Given the description of an element on the screen output the (x, y) to click on. 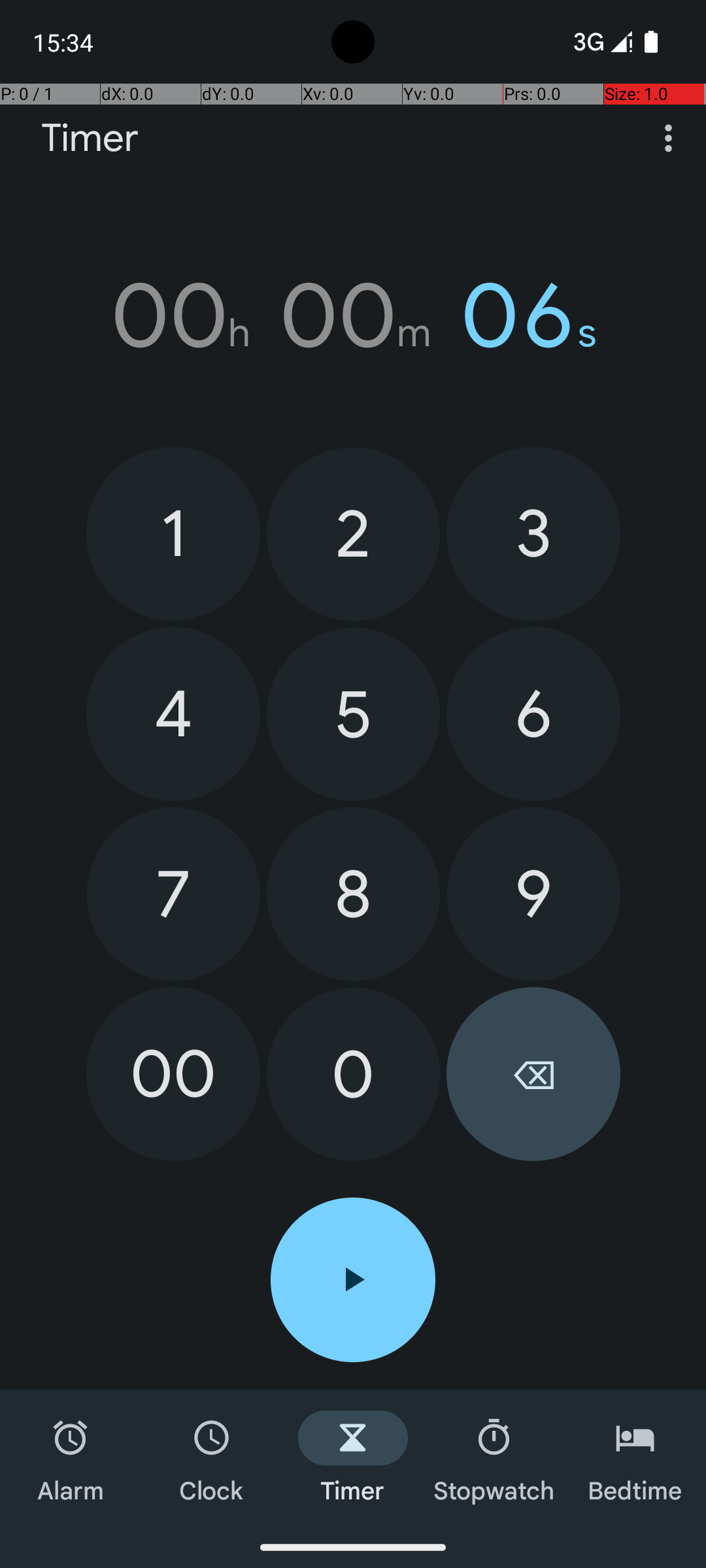
00h 00m 06s Element type: android.widget.TextView (353, 315)
